Given the description of an element on the screen output the (x, y) to click on. 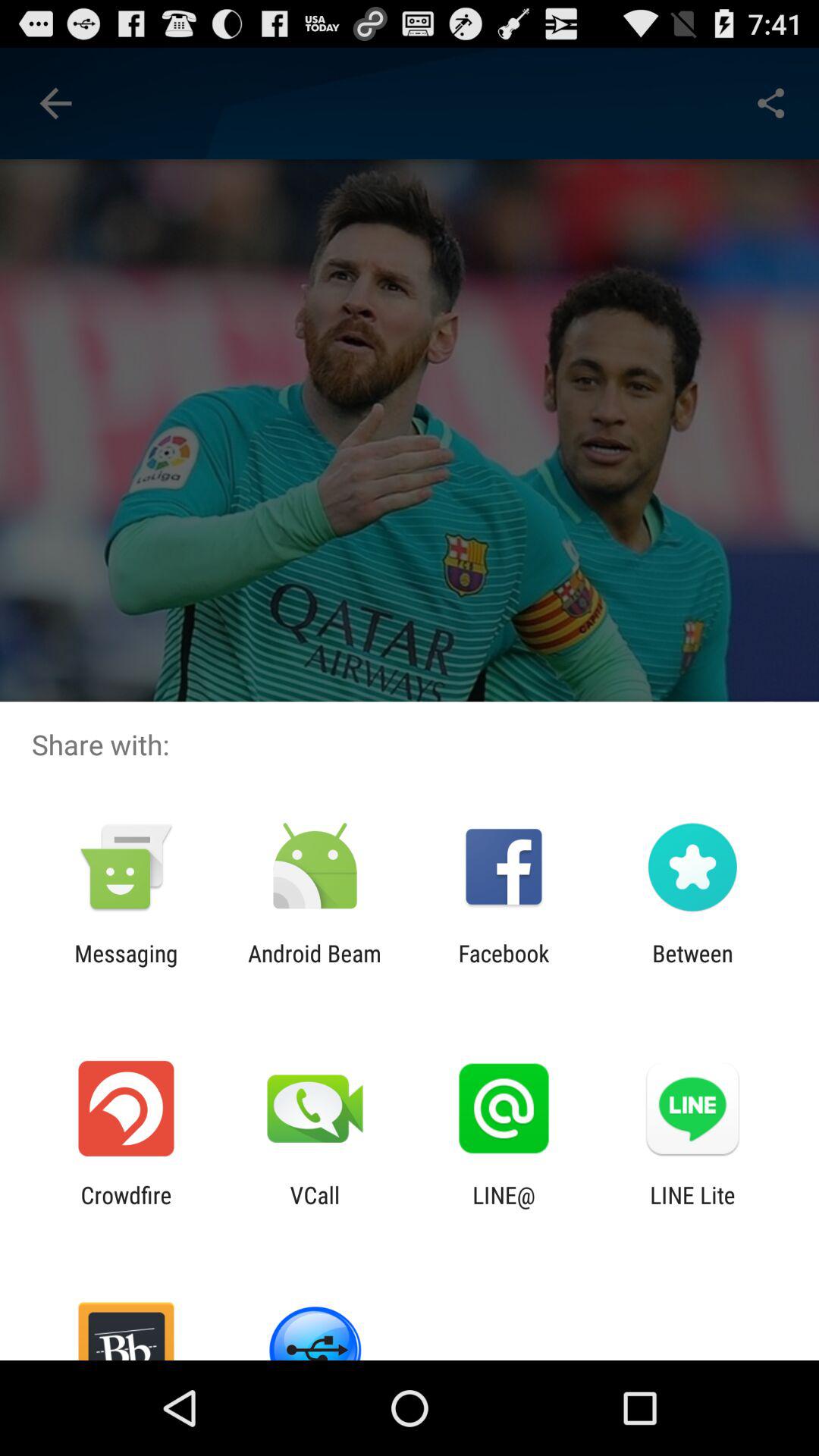
scroll to messaging item (126, 966)
